Given the description of an element on the screen output the (x, y) to click on. 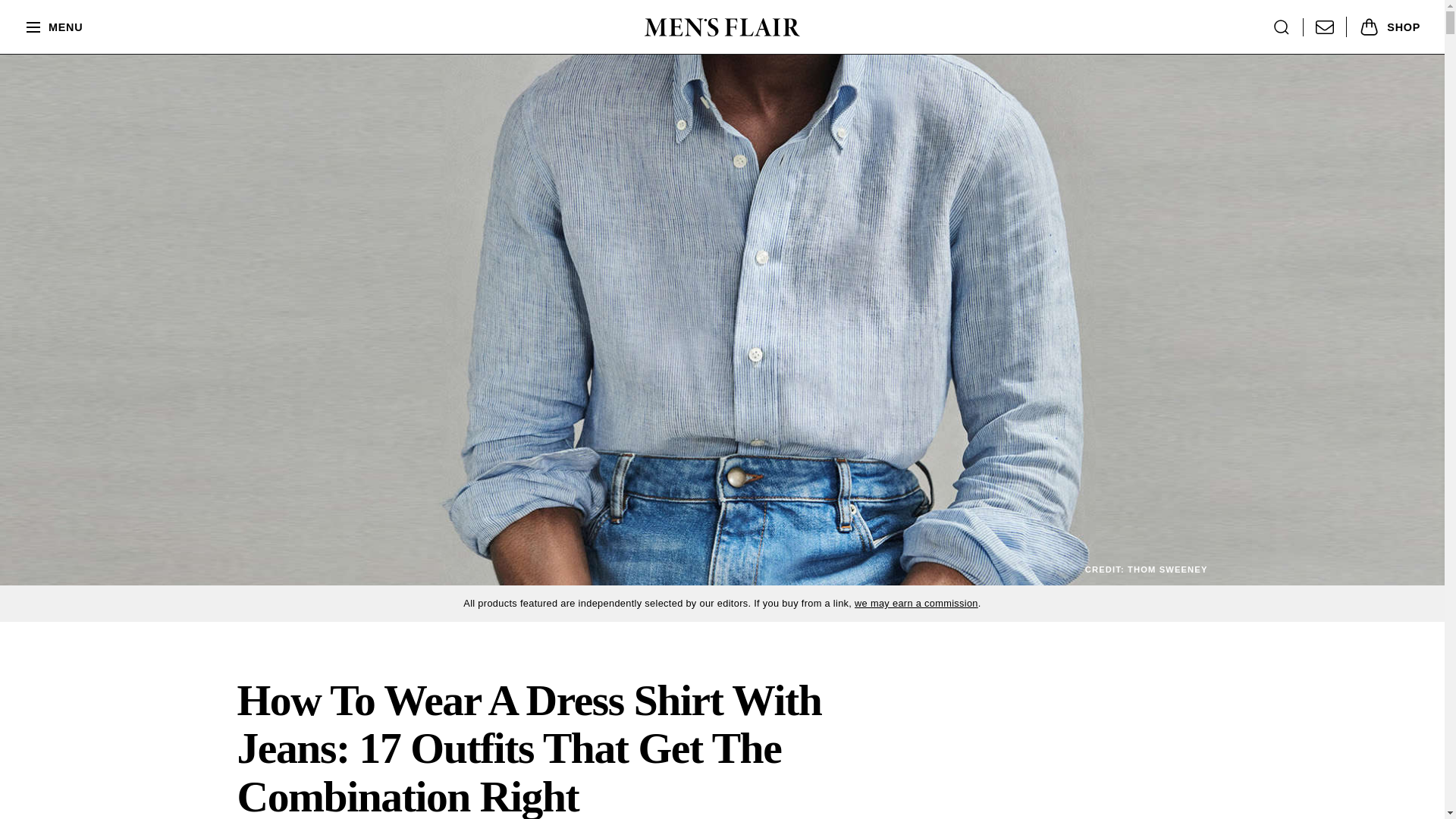
Menu (53, 27)
SHOP (1383, 26)
Search (1281, 27)
Men's Flair: The Modern Man's Fashion Guide (722, 27)
we may earn a commission (916, 603)
